Given the description of an element on the screen output the (x, y) to click on. 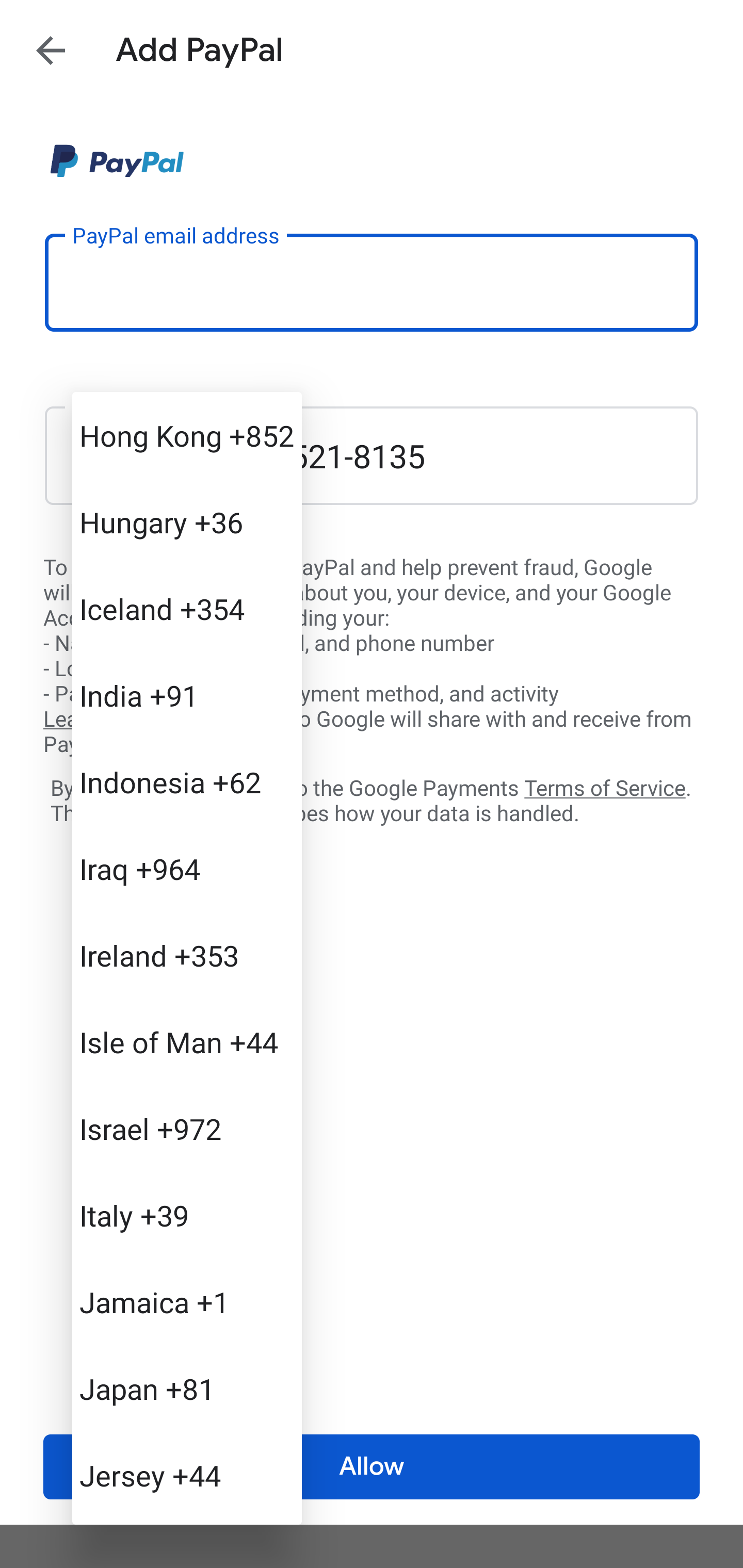
Hong Kong +852 (186, 435)
Hungary +36 (186, 522)
Iceland +354 (186, 609)
India +91 (186, 695)
Indonesia +62 (186, 781)
Iraq +964 (186, 868)
Ireland +353 (186, 955)
Isle of Man +44 (186, 1041)
Israel +972 (186, 1128)
Italy +39 (186, 1215)
Jamaica +1 (186, 1302)
Japan +81 (186, 1388)
Jersey +44 (186, 1474)
